Given the description of an element on the screen output the (x, y) to click on. 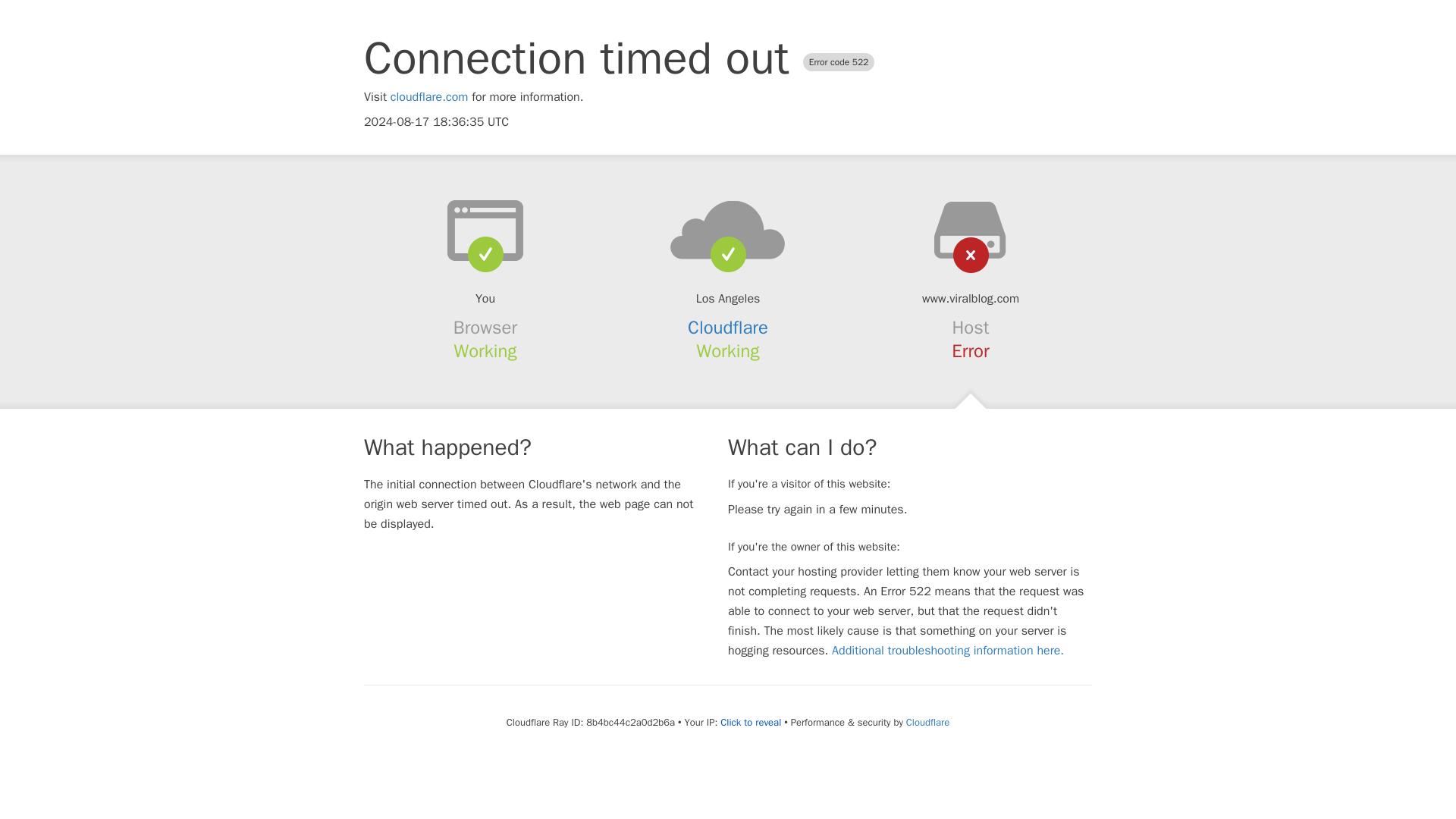
Additional troubleshooting information here. (947, 650)
cloudflare.com (429, 96)
Click to reveal (750, 722)
Cloudflare (727, 327)
Cloudflare (927, 721)
